Given the description of an element on the screen output the (x, y) to click on. 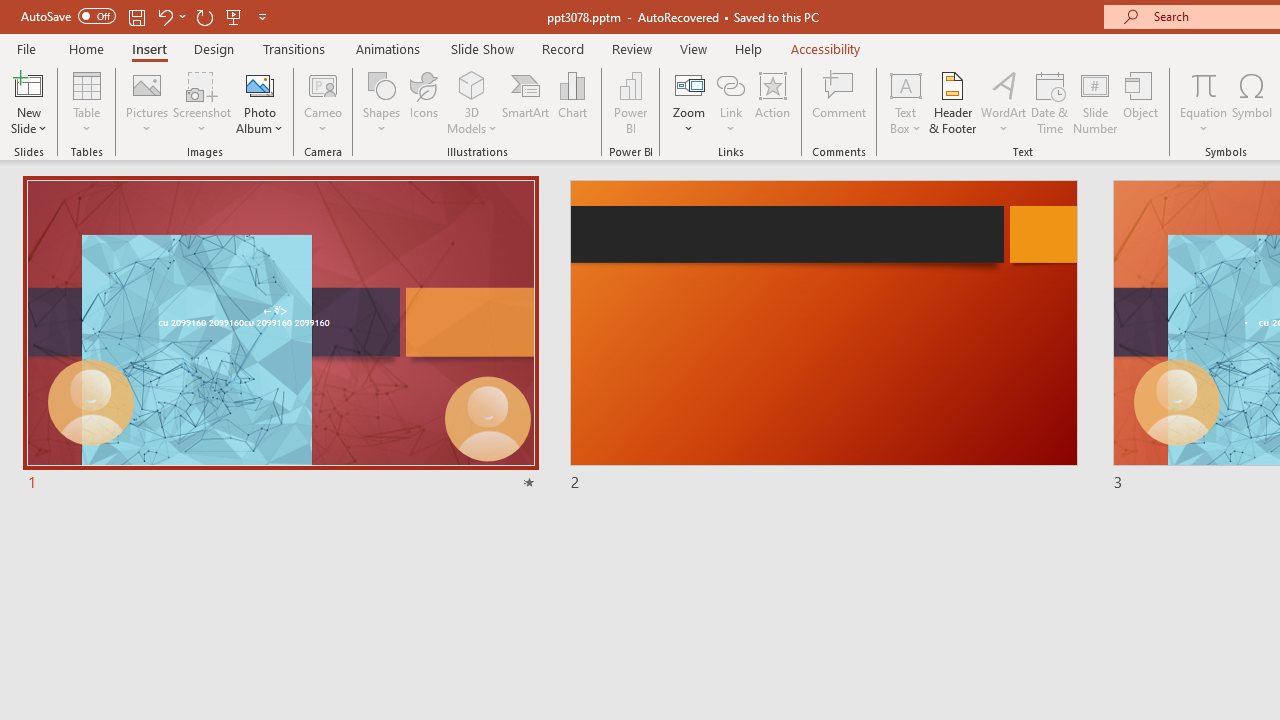
Symbol... (1252, 102)
SmartArt... (525, 102)
Chart... (572, 102)
Object... (1141, 102)
Photo Album... (259, 102)
